Given the description of an element on the screen output the (x, y) to click on. 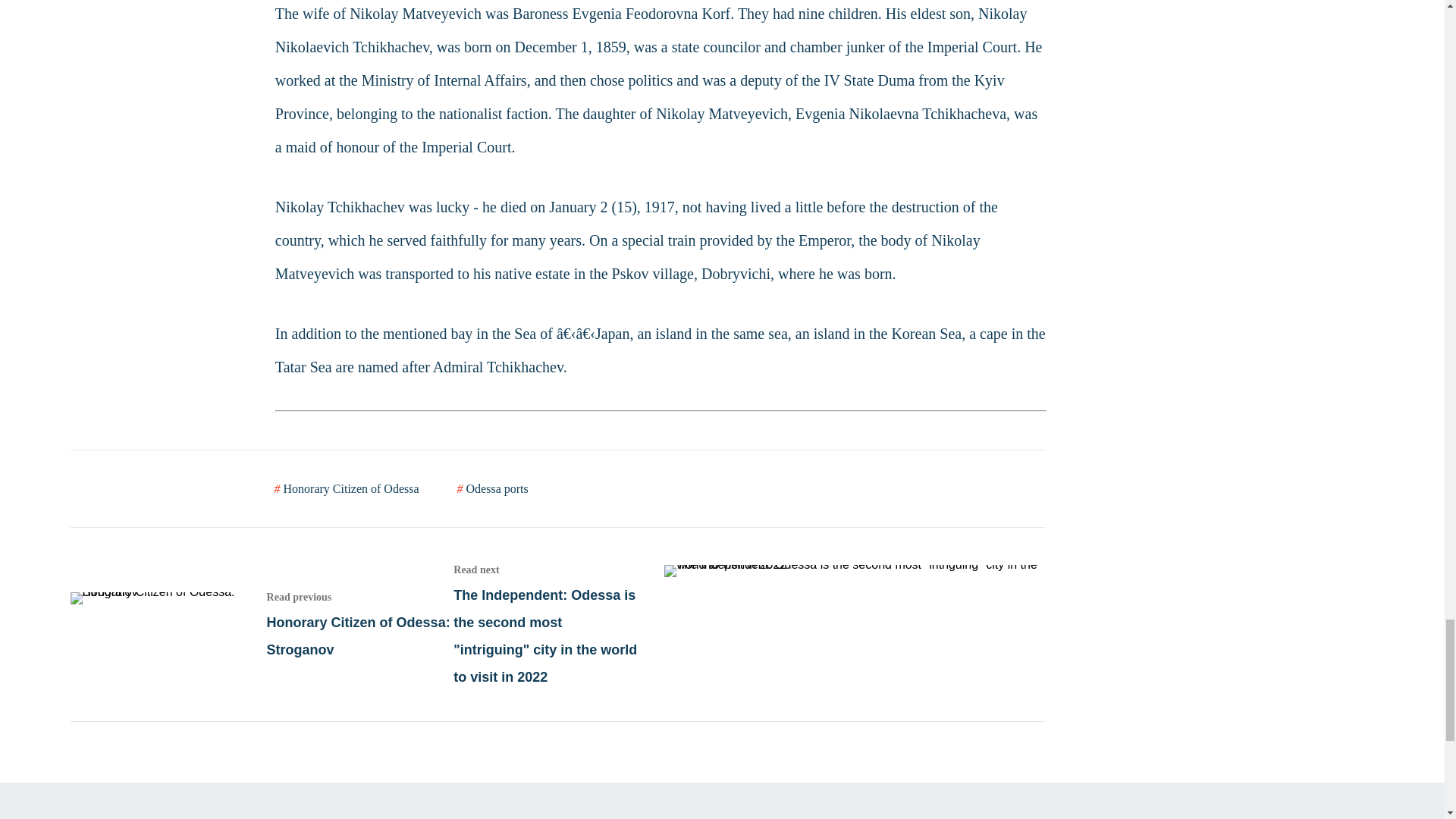
Honorary Citizen of Odessa (347, 488)
Odessa ports (492, 488)
Read (260, 624)
Read (747, 624)
